Given the description of an element on the screen output the (x, y) to click on. 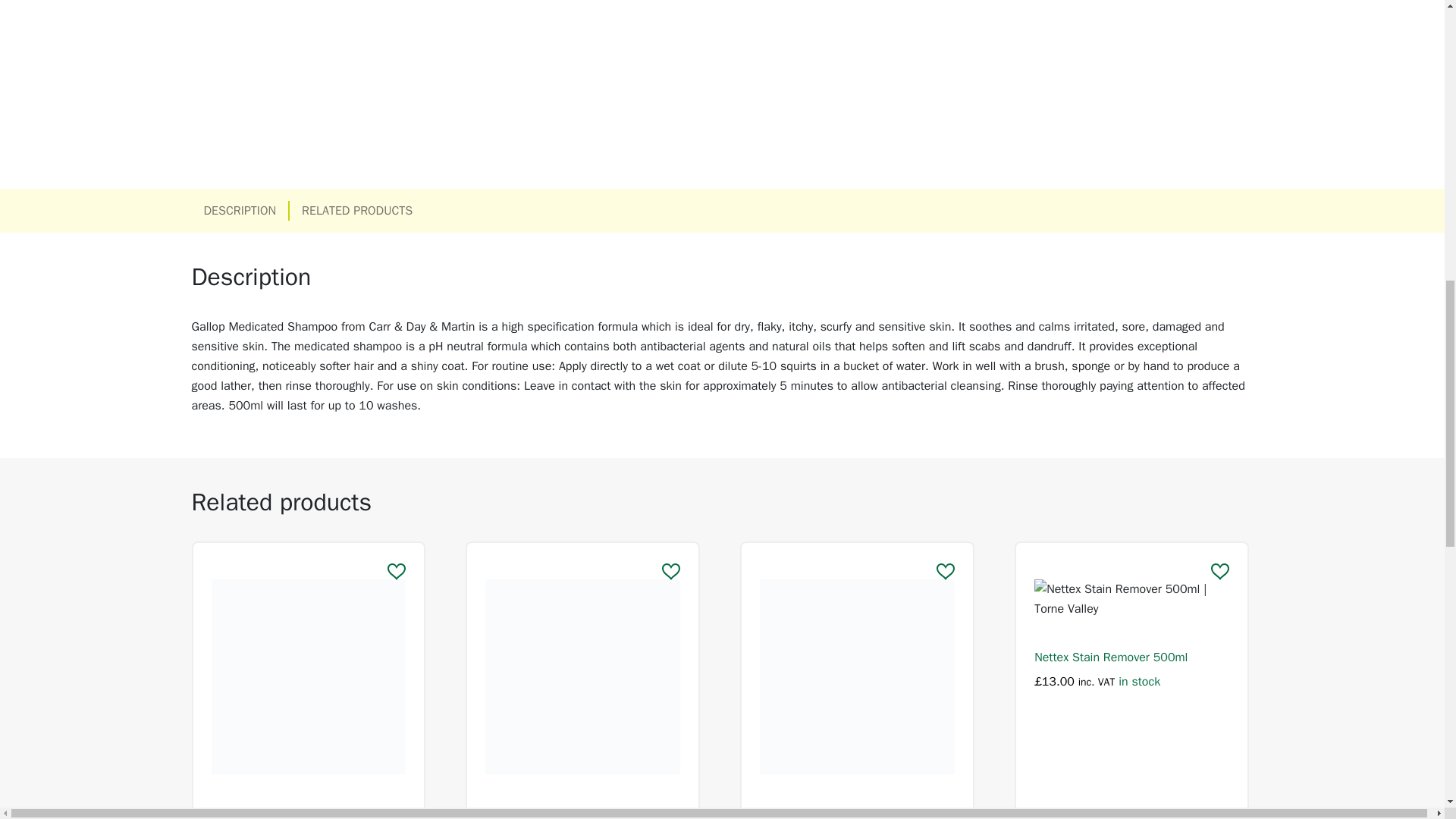
RELATED PRODUCTS (356, 210)
DESCRIPTION (239, 210)
